Given the description of an element on the screen output the (x, y) to click on. 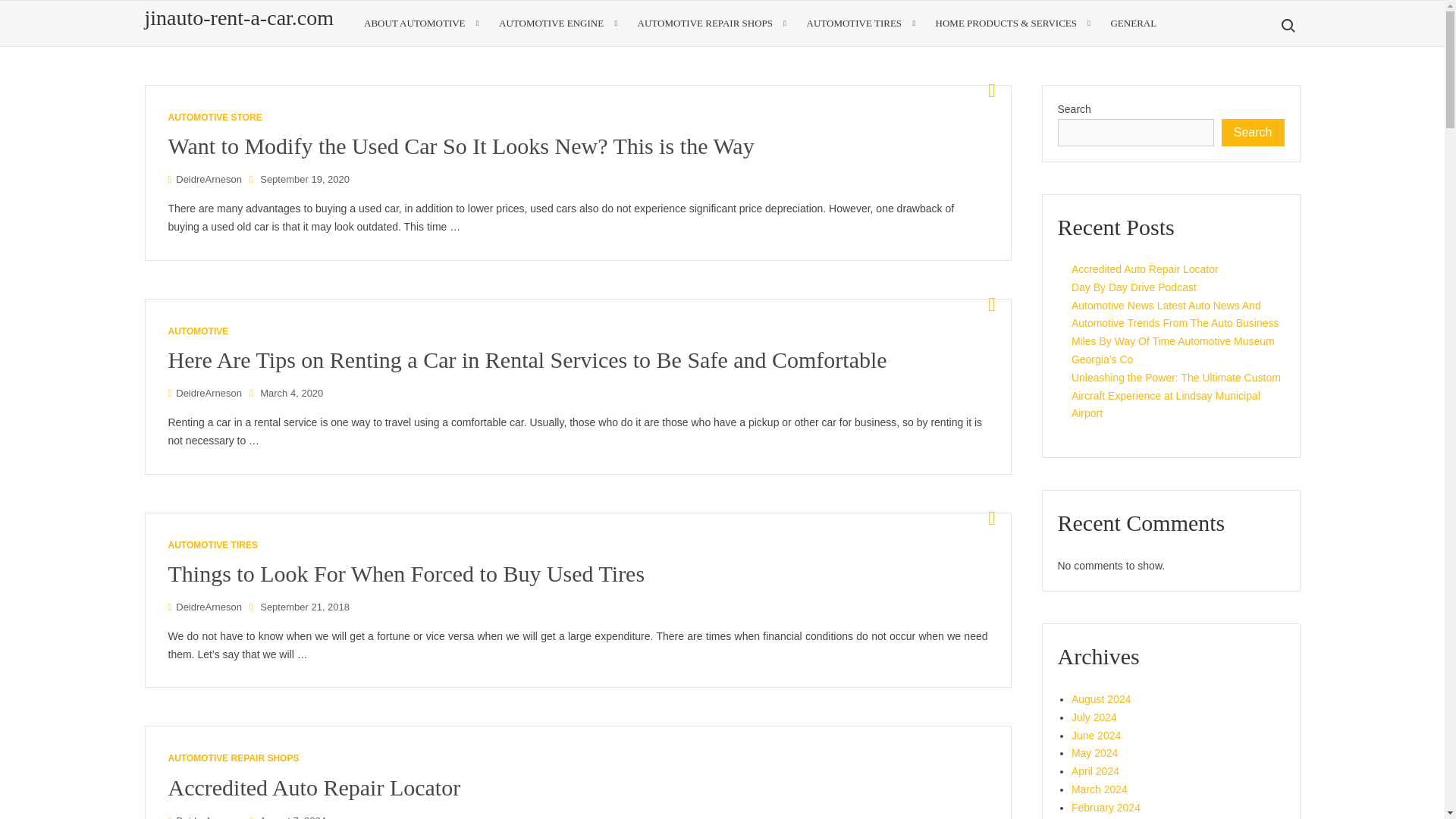
jinauto-rent-a-car.com (238, 17)
